Given the description of an element on the screen output the (x, y) to click on. 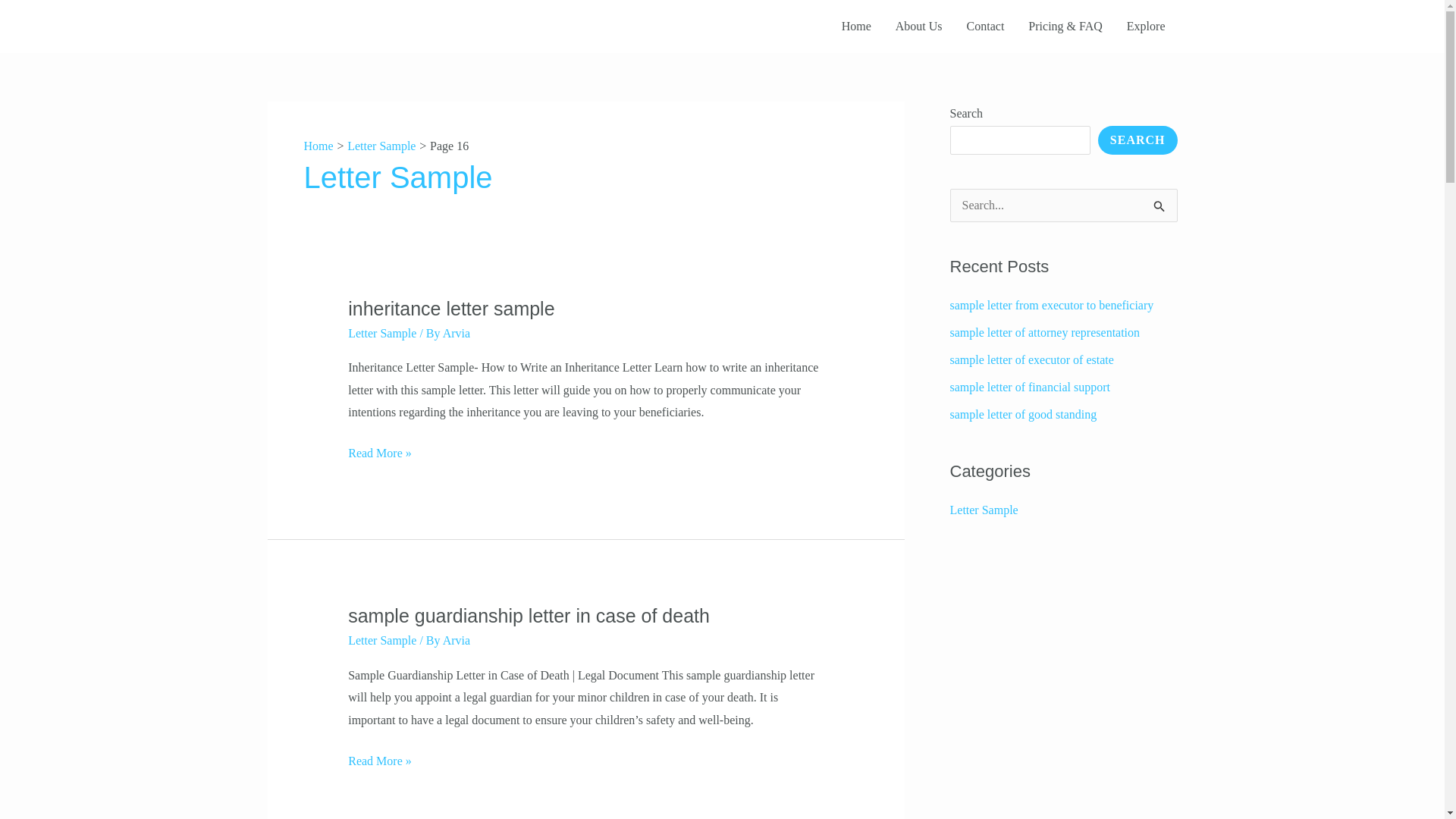
Contact (985, 26)
Home (317, 145)
Letter Sample (381, 640)
Home (856, 26)
Arvia (456, 332)
Arvia (456, 640)
Letter Sample (380, 145)
View all posts by Arvia (456, 332)
Search (1159, 204)
About Us (919, 26)
sample guardianship letter in case of death (528, 615)
inheritance letter sample (450, 308)
View all posts by Arvia (456, 640)
Search (1159, 204)
Explore (1146, 26)
